Given the description of an element on the screen output the (x, y) to click on. 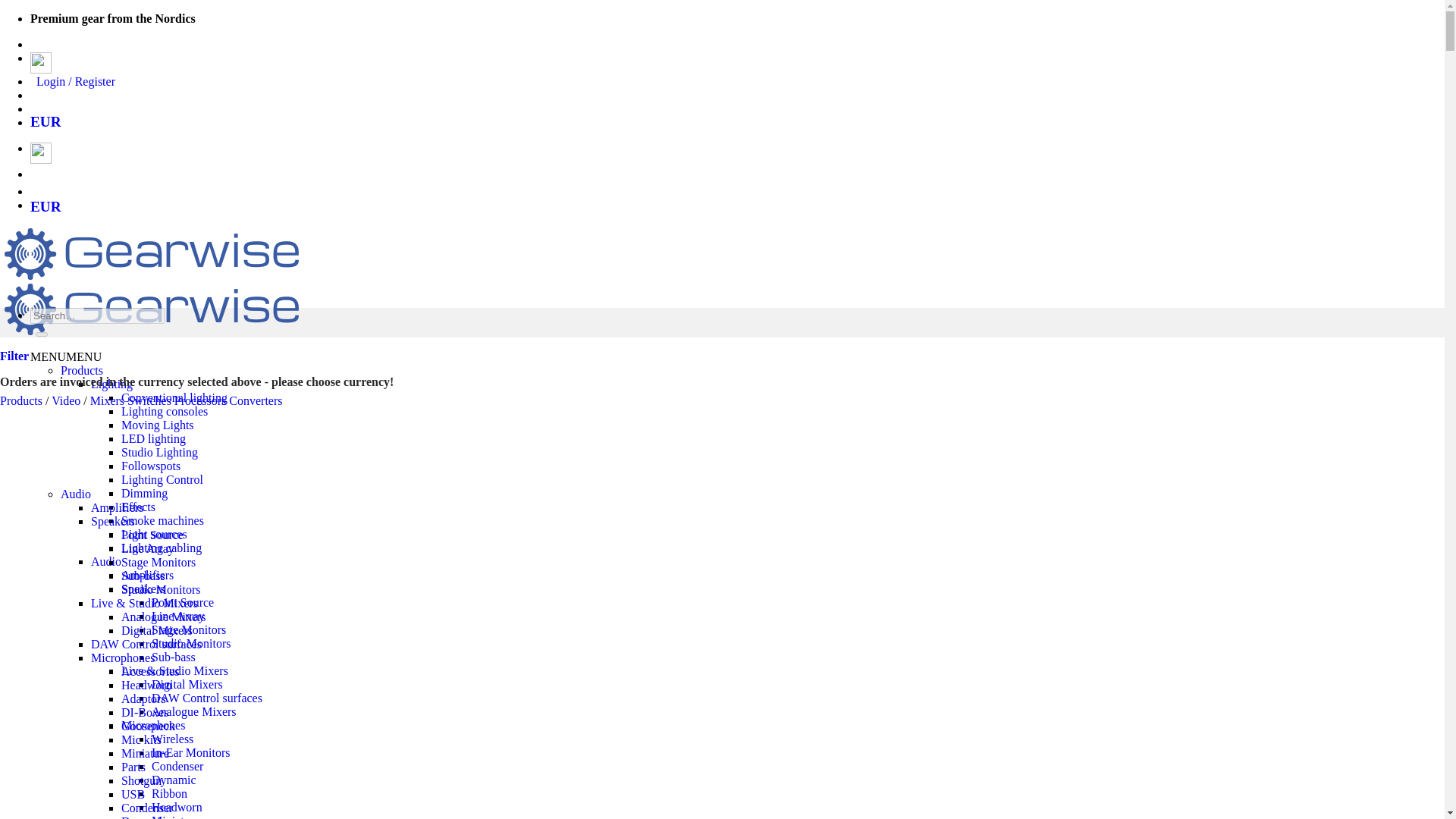
LED lighting (153, 438)
EUR (45, 206)
Conventional lighting (173, 397)
Login (75, 81)
EUR (45, 121)
Lighting (111, 383)
Moving Lights (156, 424)
Lighting consoles (164, 410)
Products (82, 369)
Followspots (150, 465)
